Given the description of an element on the screen output the (x, y) to click on. 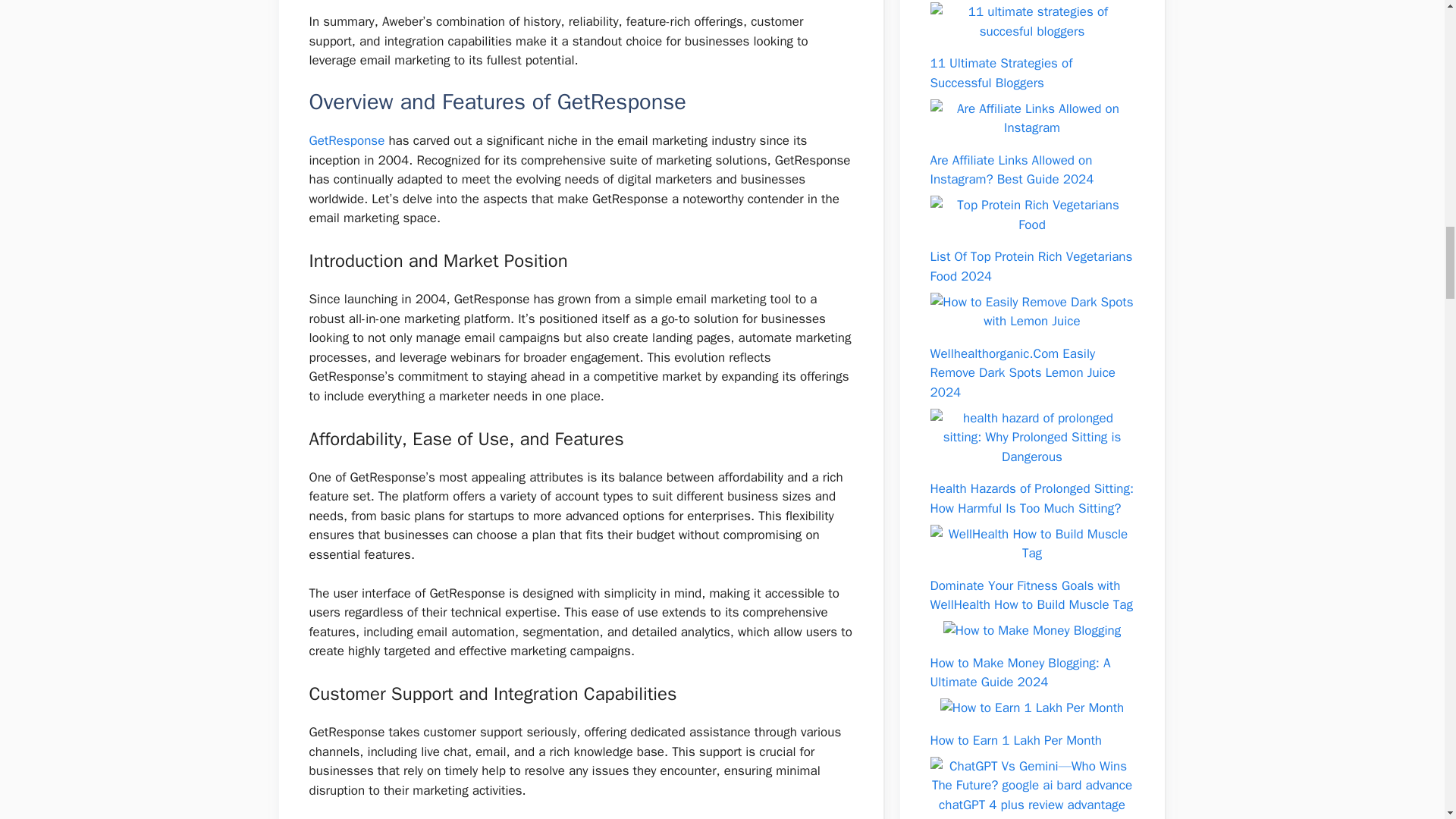
GetResponse (346, 140)
